Given the description of an element on the screen output the (x, y) to click on. 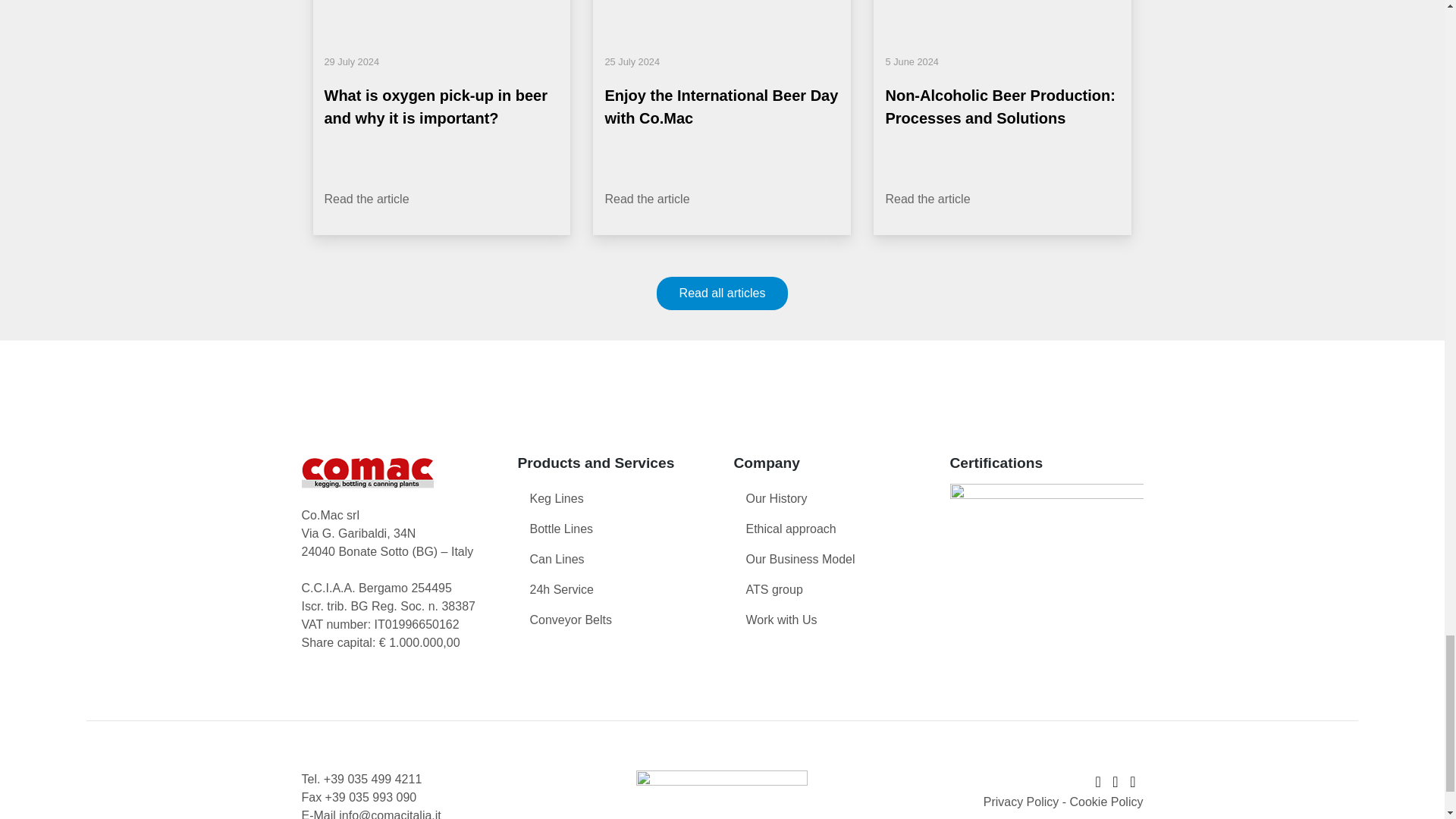
Cookie Policy  (1106, 801)
Privacy Policy  (1021, 801)
